Given the description of an element on the screen output the (x, y) to click on. 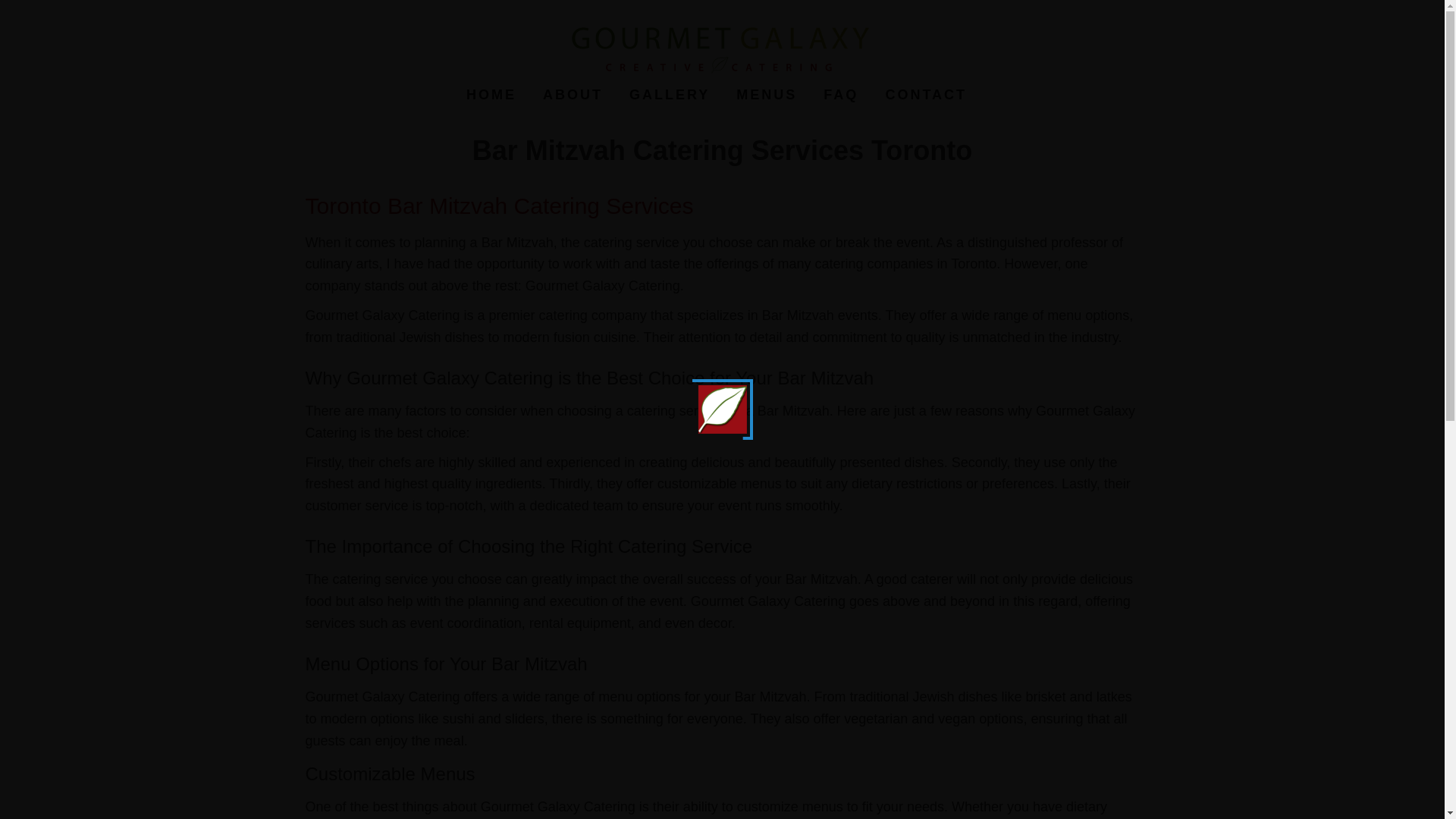
MENUS (766, 94)
Toronto Bar Mitzvah Catering Services  (501, 205)
ABOUT (572, 94)
CONTACT (925, 94)
GALLERY (668, 94)
HOME (490, 94)
FAQ (840, 94)
